Given the description of an element on the screen output the (x, y) to click on. 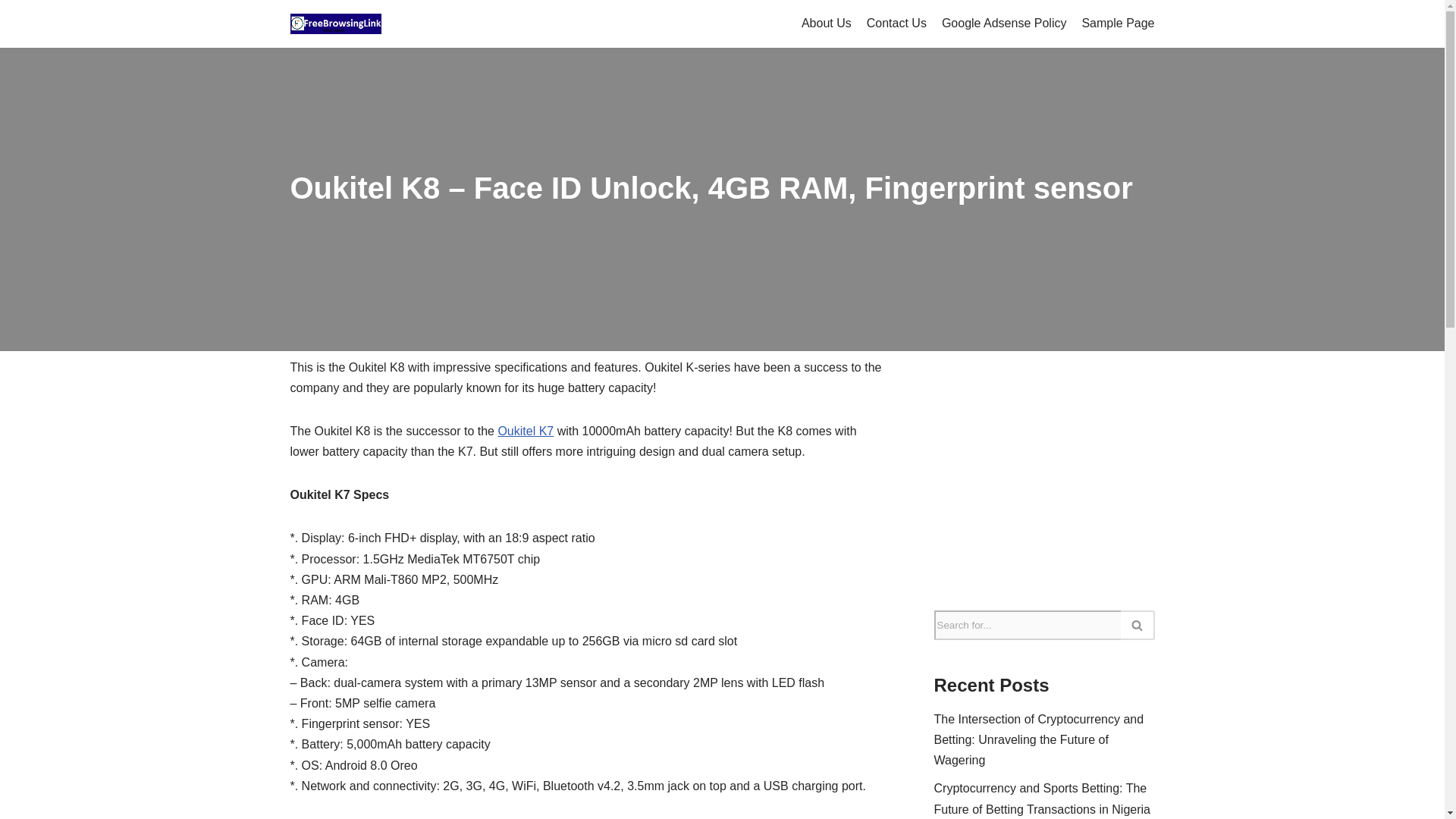
Google Adsense Policy (1004, 23)
Contact Us (896, 23)
Oukitel K7 (525, 431)
Sample Page (1117, 23)
Skip to content (11, 31)
About Us (826, 23)
